Given the description of an element on the screen output the (x, y) to click on. 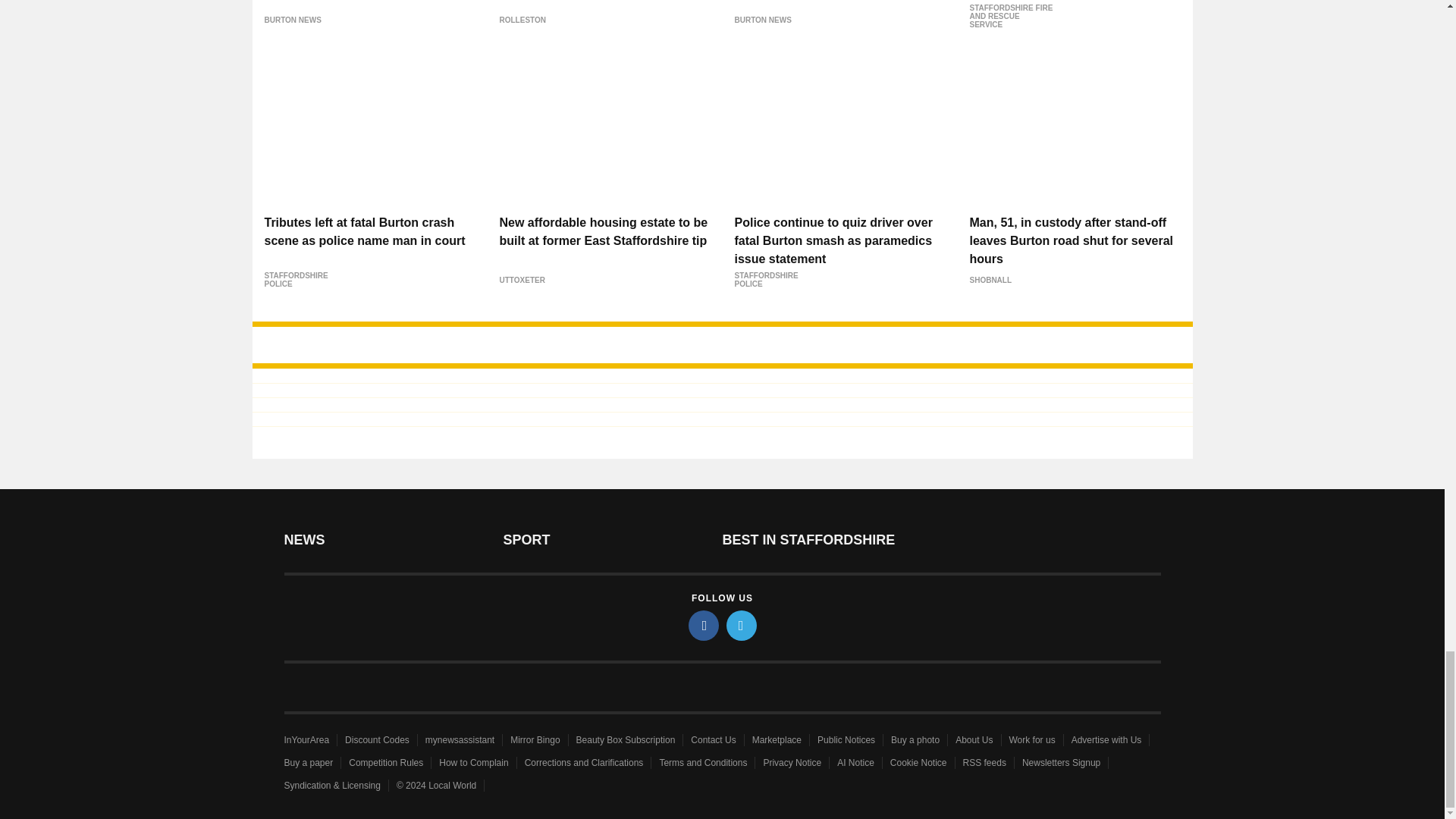
facebook (703, 625)
twitter (741, 625)
